Given the description of an element on the screen output the (x, y) to click on. 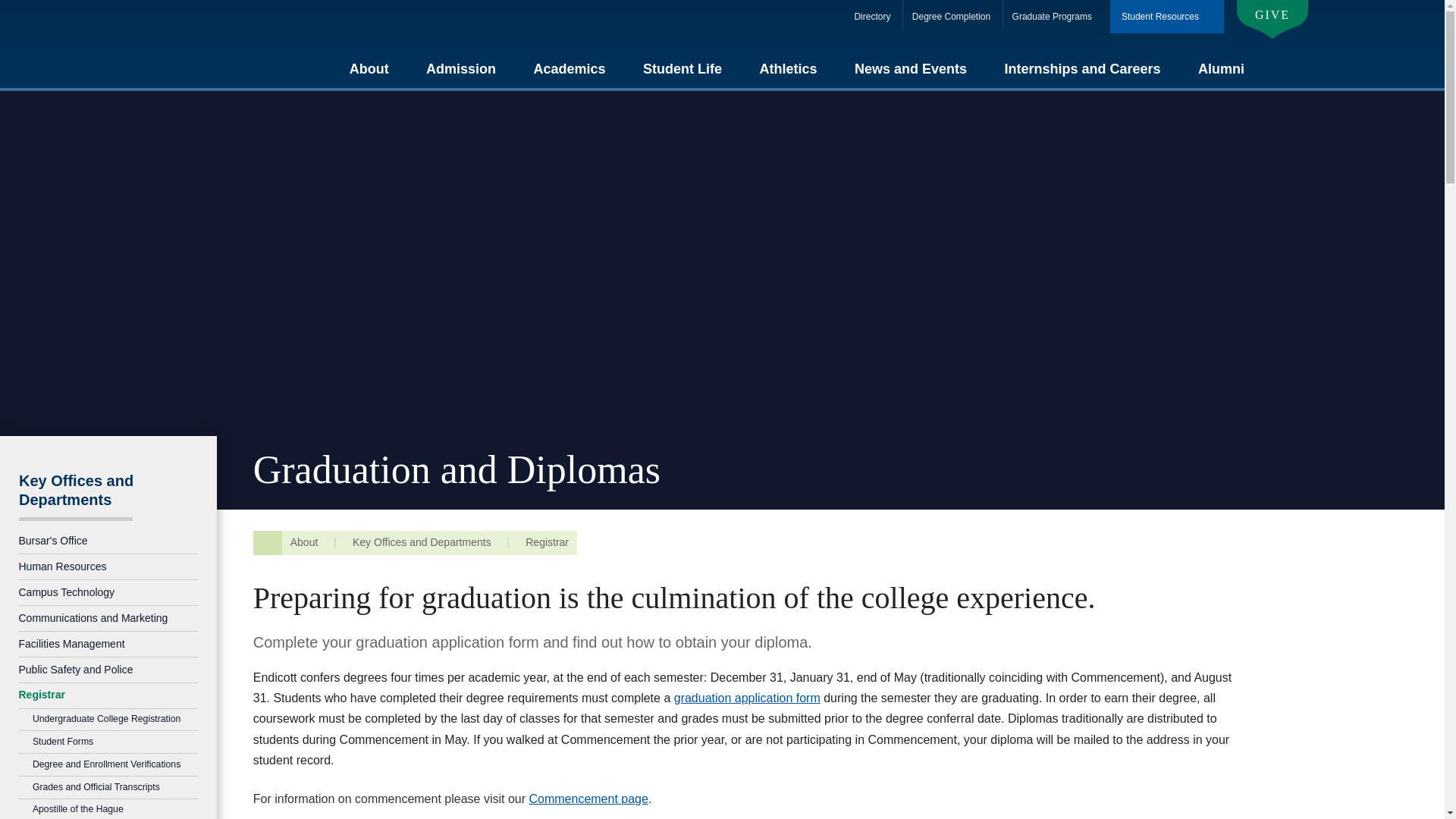
Academics (569, 68)
Endicott College (212, 43)
Admission (461, 68)
About (368, 68)
